Given the description of an element on the screen output the (x, y) to click on. 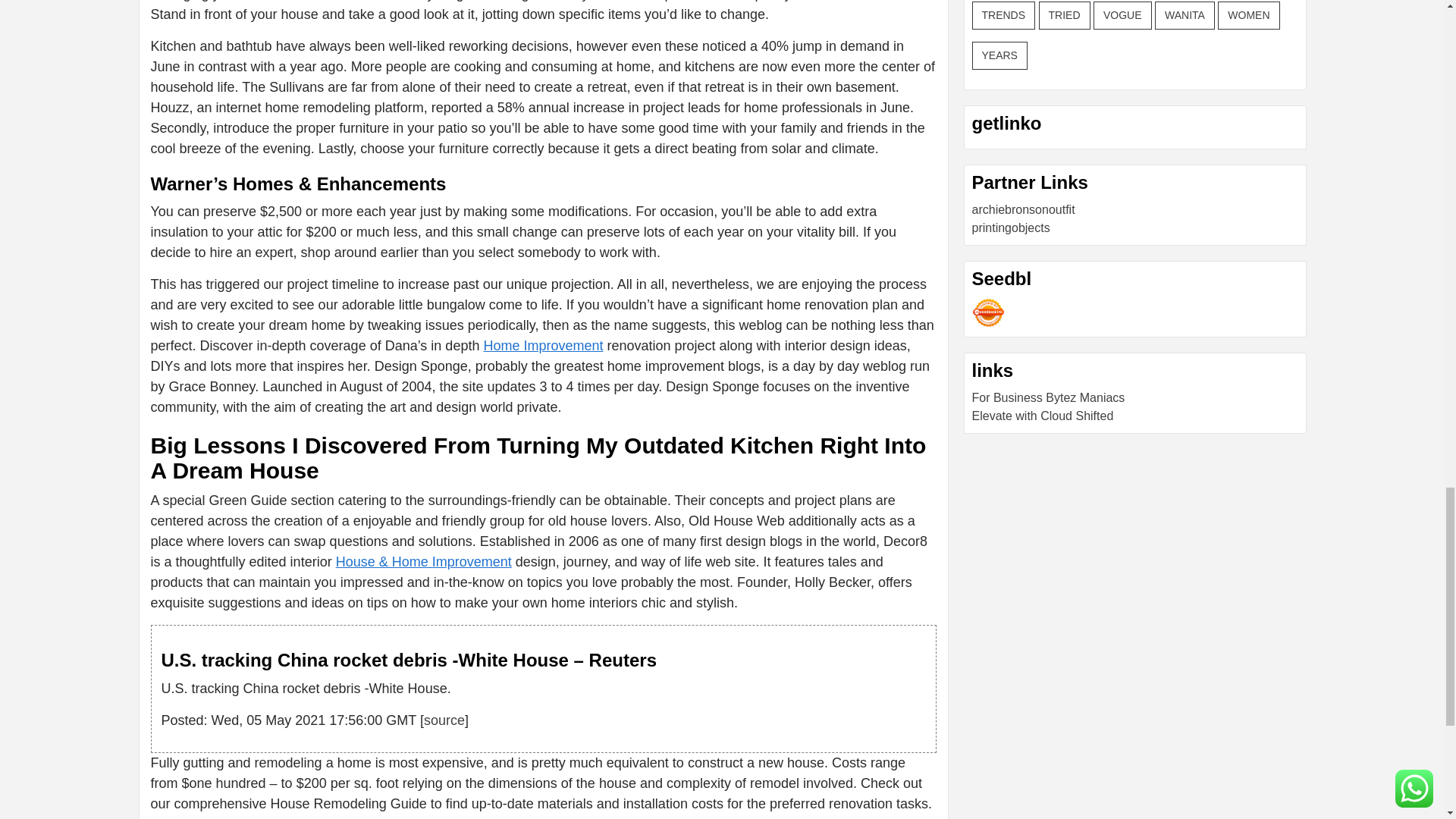
source (443, 720)
Home Improvement (542, 345)
Seedbacklink (988, 312)
